Given the description of an element on the screen output the (x, y) to click on. 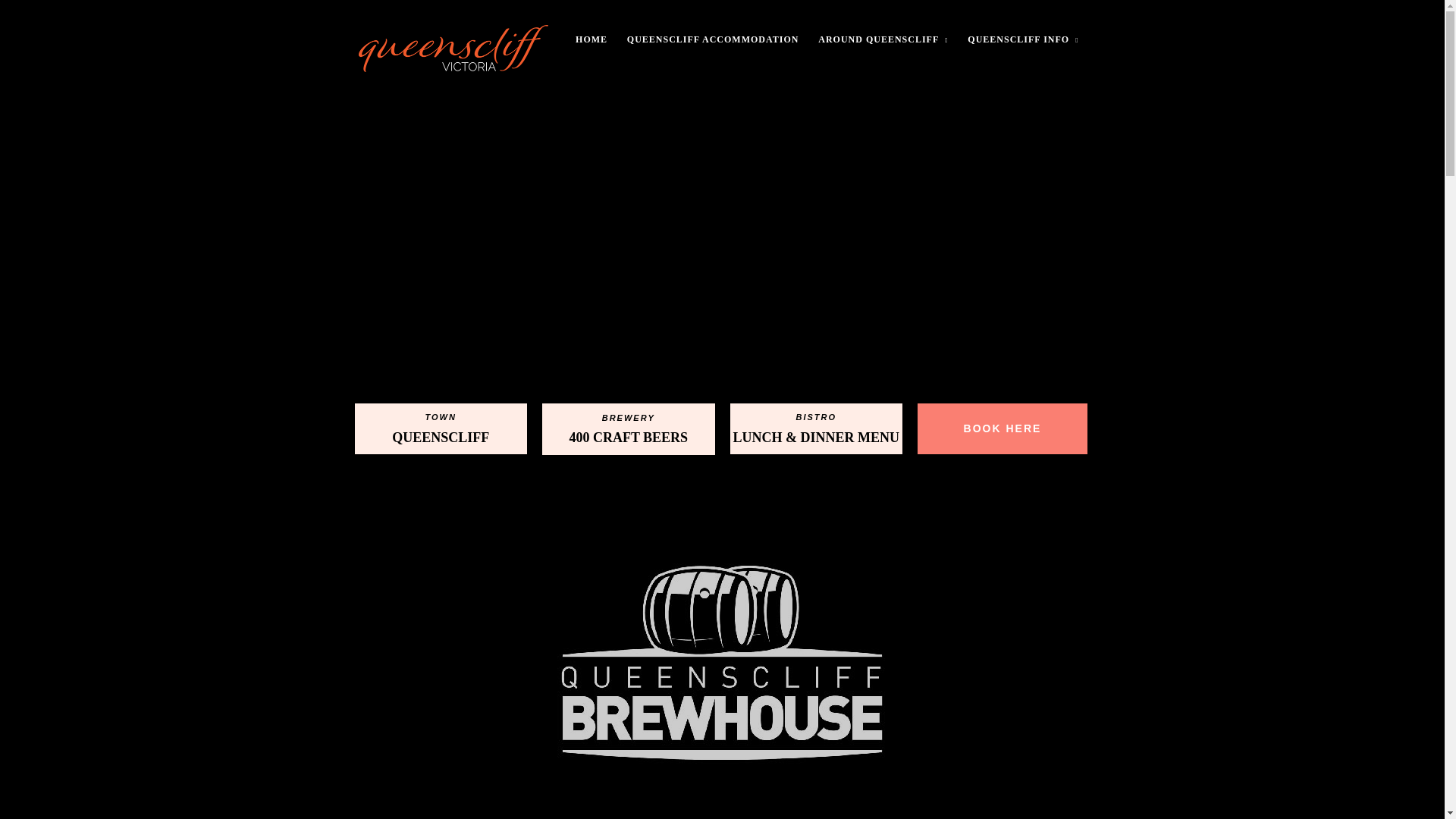
QUEENSCLIFF ACCOMMODATION (713, 51)
brewhouse-logo (721, 662)
QUEENSCLIFF INFO (1022, 51)
HOME (590, 51)
AROUND QUEENSCLIFF (882, 51)
BOOK HERE (1002, 428)
